Given the description of an element on the screen output the (x, y) to click on. 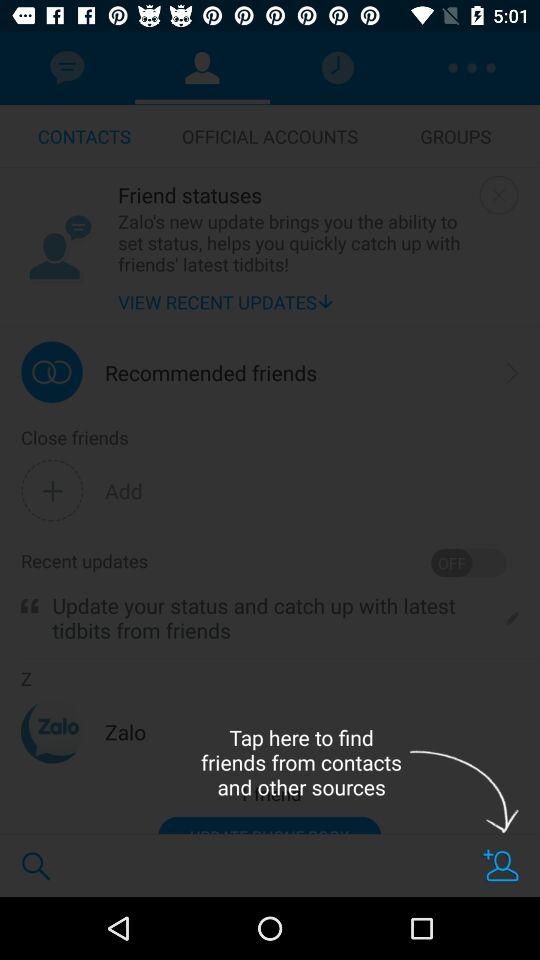
click the icon to the right of the recent updates (468, 562)
